Given the description of an element on the screen output the (x, y) to click on. 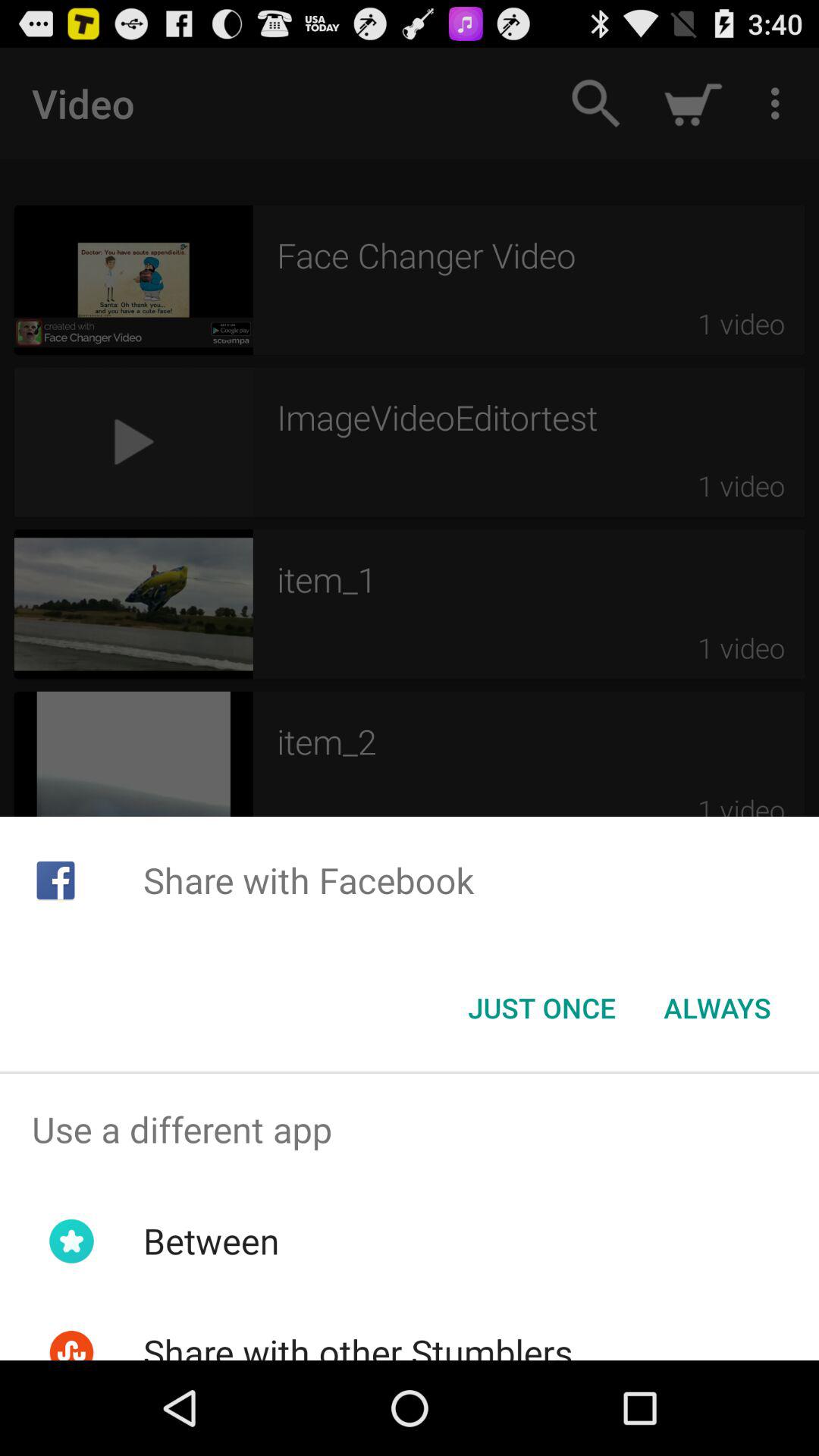
press the use a different item (409, 1129)
